Given the description of an element on the screen output the (x, y) to click on. 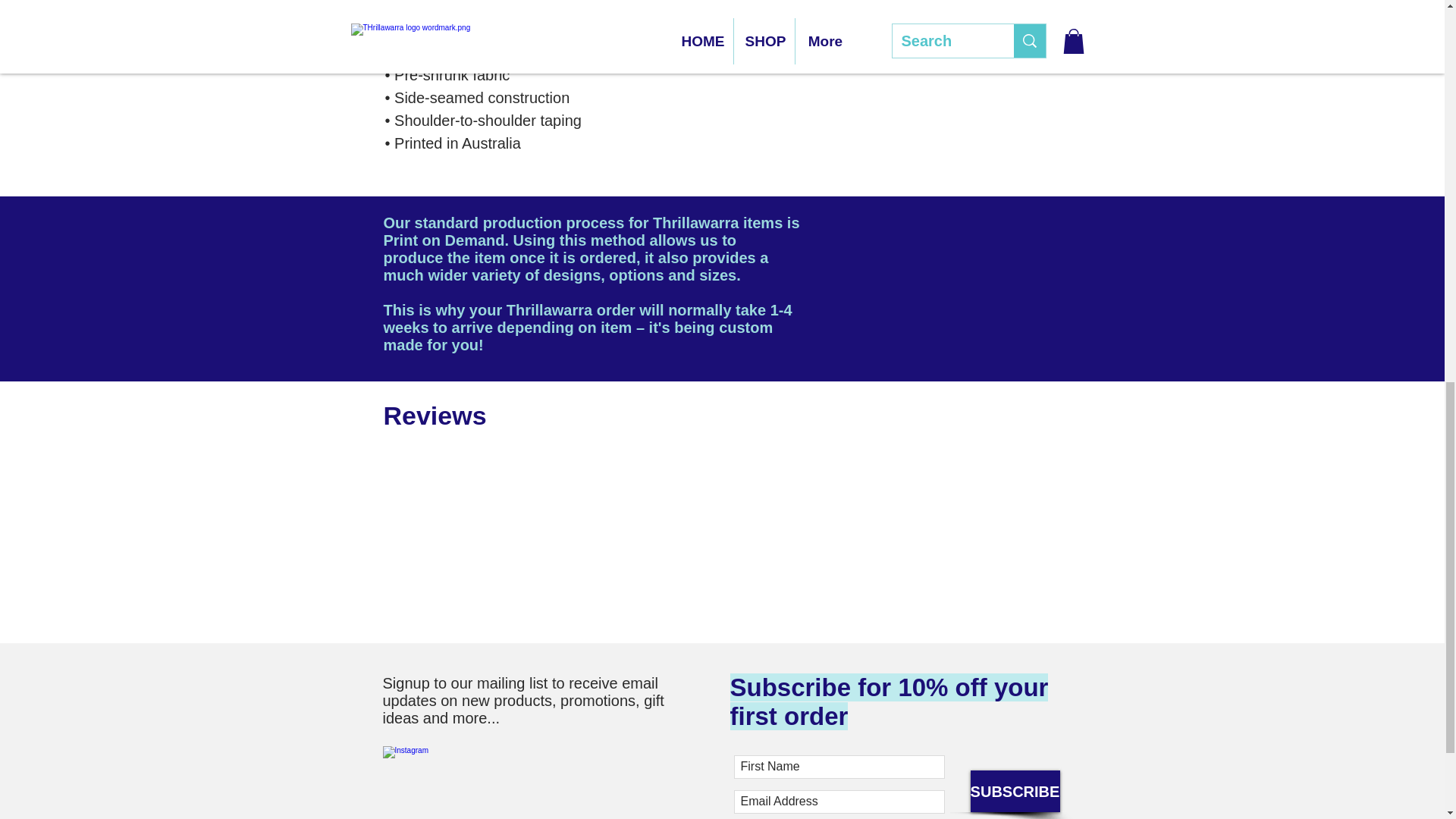
SUBSCRIBE (1015, 791)
